Given the description of an element on the screen output the (x, y) to click on. 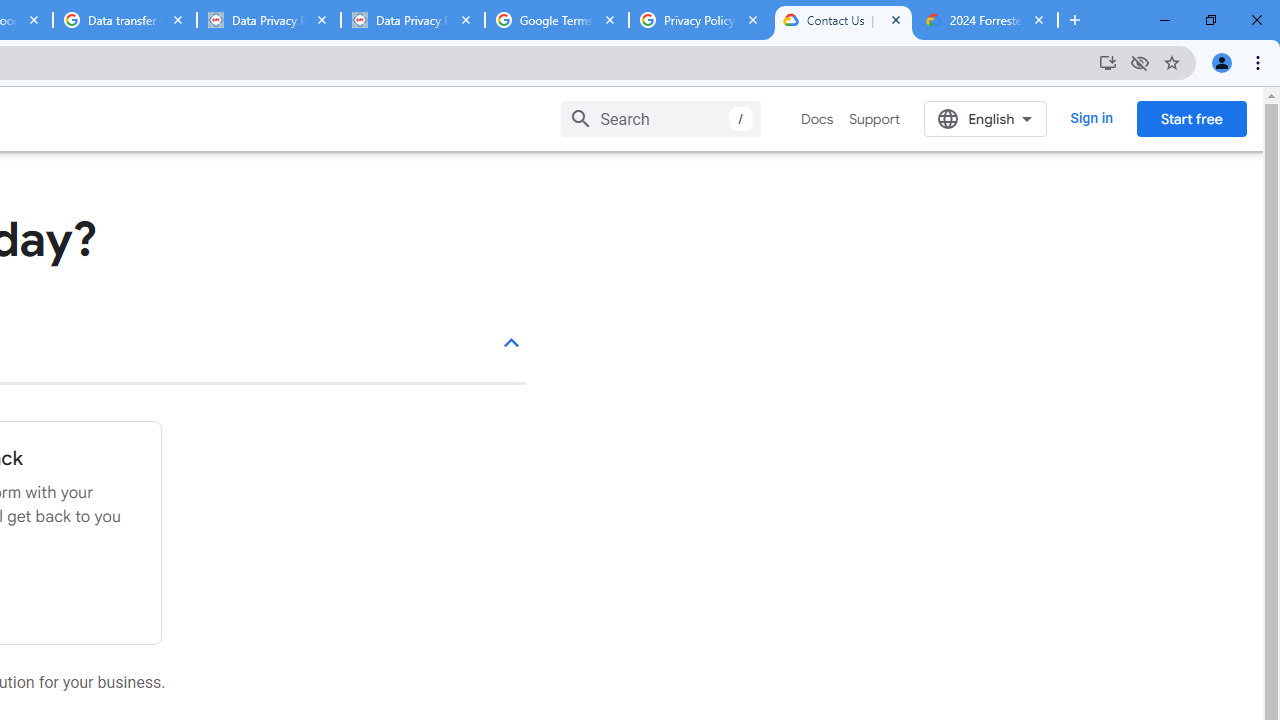
Docs (817, 119)
Data Privacy Framework (412, 20)
Start free (1191, 118)
